Given the description of an element on the screen output the (x, y) to click on. 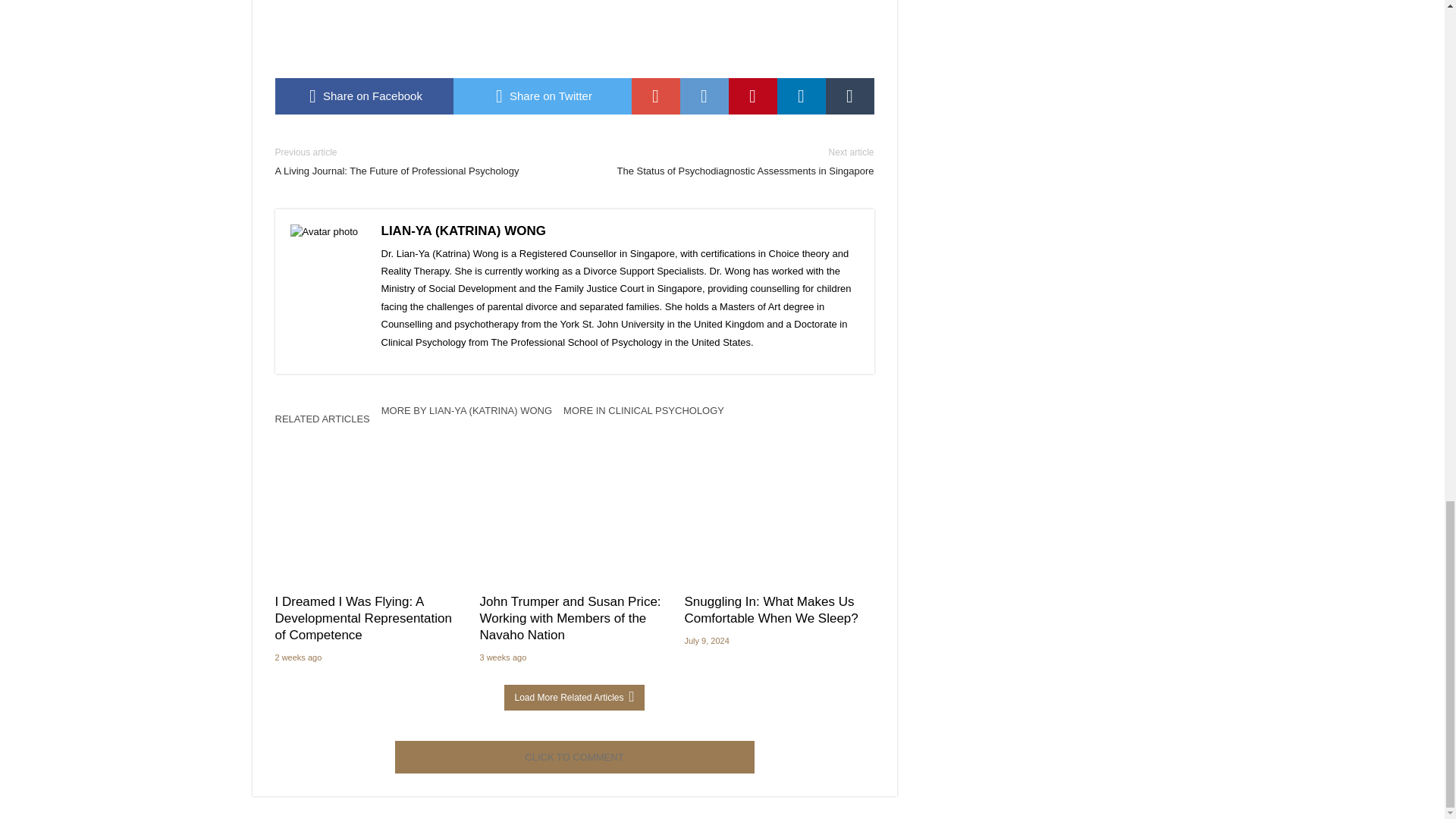
RELATED ARTICLES (327, 423)
Share on Pinterest (752, 95)
Share on Facebook (363, 95)
twitter (541, 95)
reddit (703, 95)
Share on Reddit (703, 95)
facebook (363, 95)
google (654, 95)
linkedin (800, 95)
